Given the description of an element on the screen output the (x, y) to click on. 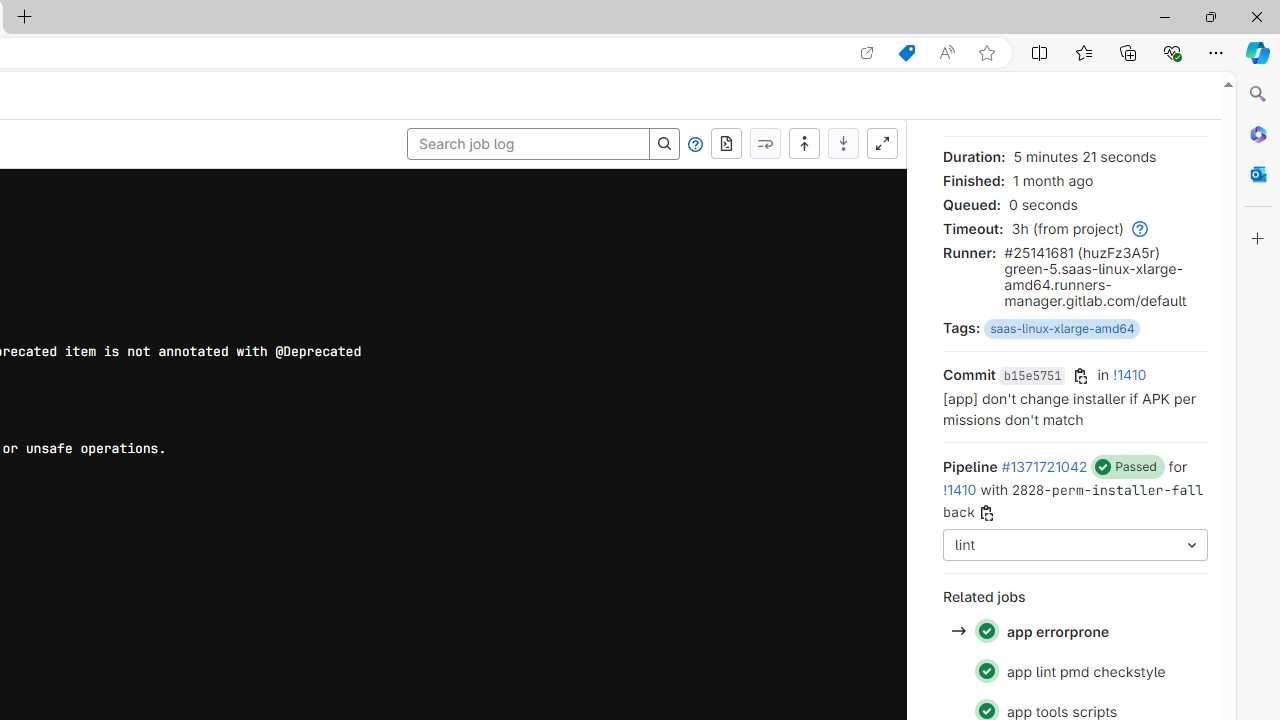
b15e5751 (1032, 376)
Search job log (528, 143)
2828-perm-installer-fallback (1073, 500)
Status: Passed app lint pmd checkstyle (1073, 670)
Copy branch name (986, 513)
Scroll to bottom (843, 143)
Show complete raw (726, 143)
Scroll to next failure (765, 143)
